Given the description of an element on the screen output the (x, y) to click on. 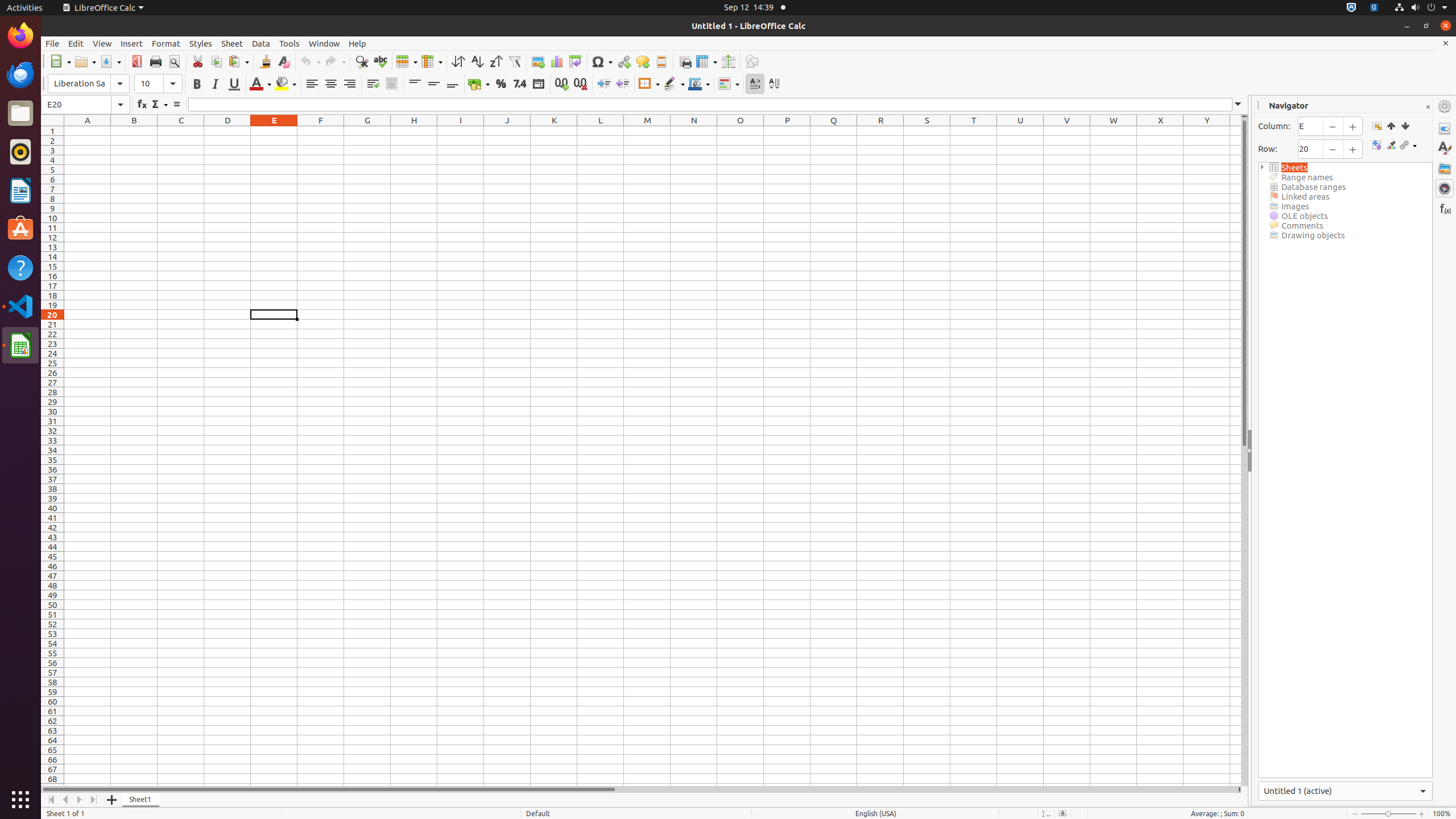
New Element type: push-button (59, 61)
Number Element type: push-button (519, 83)
Border Color Element type: push-button (698, 83)
Add Decimal Place Element type: push-button (561, 83)
A1 Element type: table-cell (87, 130)
